Given the description of an element on the screen output the (x, y) to click on. 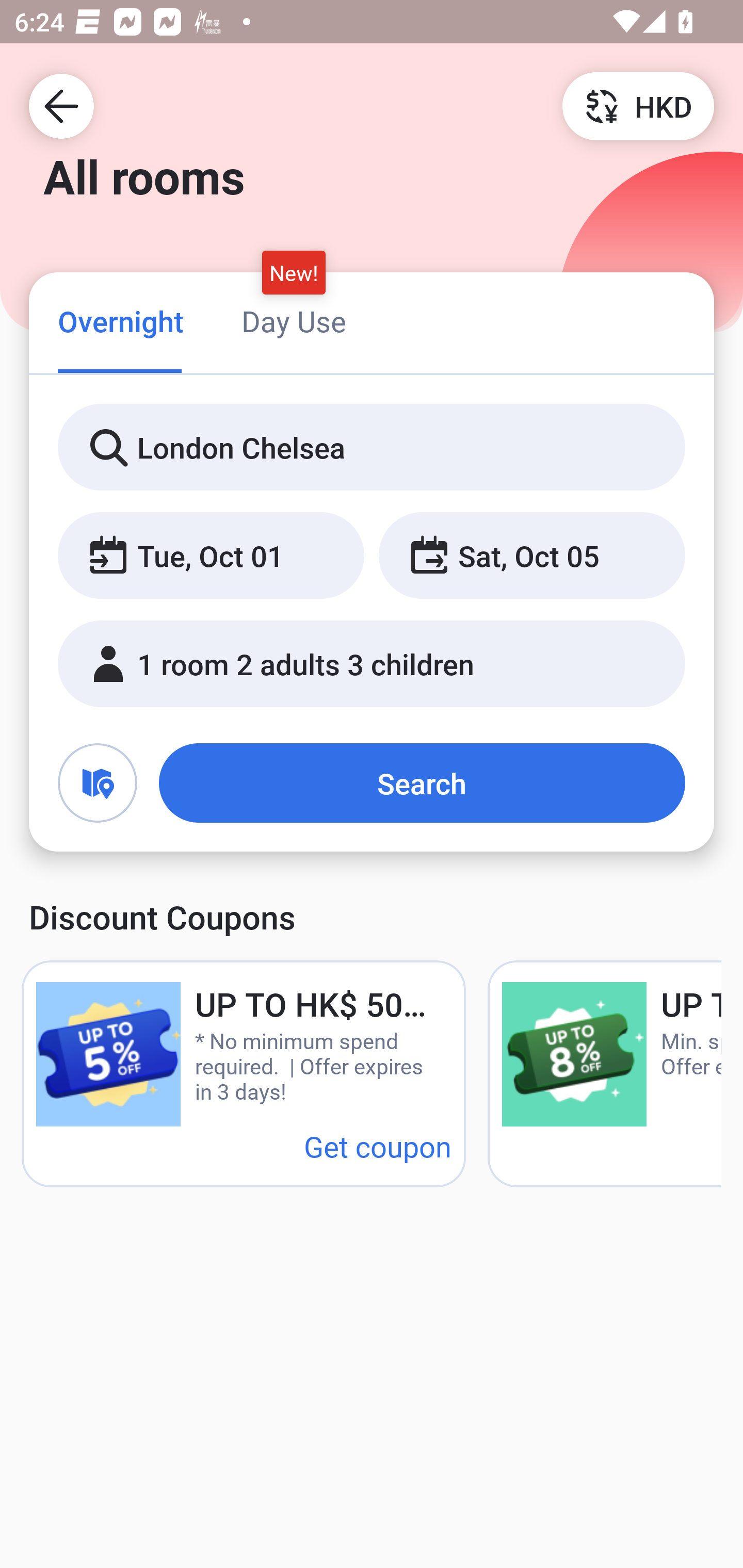
HKD (638, 105)
New! (294, 272)
Day Use (293, 321)
London Chelsea (371, 447)
Tue, Oct 01 (210, 555)
Sat, Oct 05 (531, 555)
1 room 2 adults 3 children (371, 663)
Search (422, 783)
Get coupon (377, 1146)
